Given the description of an element on the screen output the (x, y) to click on. 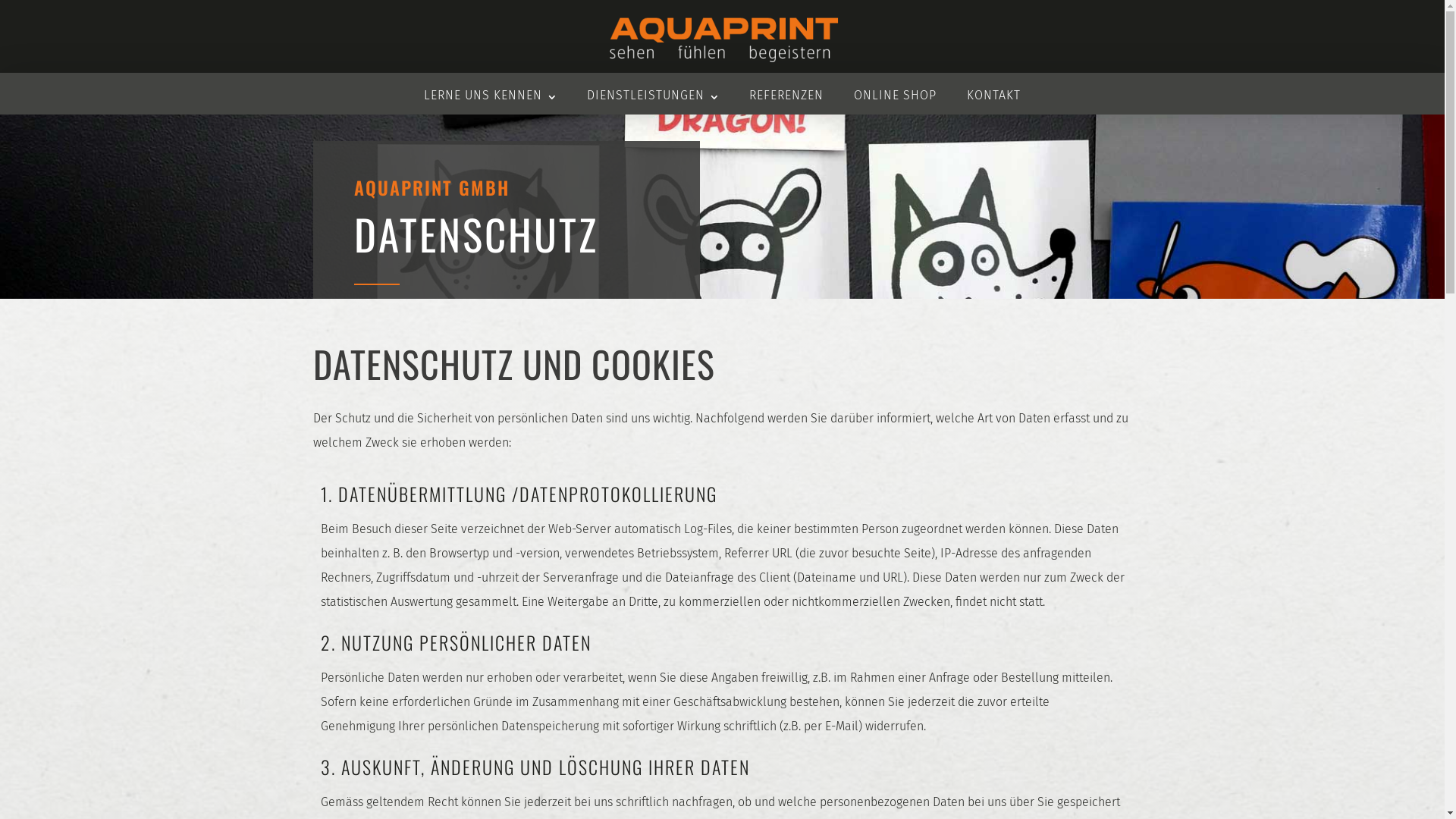
DIENSTLEISTUNGEN Element type: text (652, 95)
ONLINE SHOP Element type: text (894, 95)
KONTAKT Element type: text (993, 95)
LERNE UNS KENNEN Element type: text (489, 95)
REFERENZEN Element type: text (786, 95)
